Given the description of an element on the screen output the (x, y) to click on. 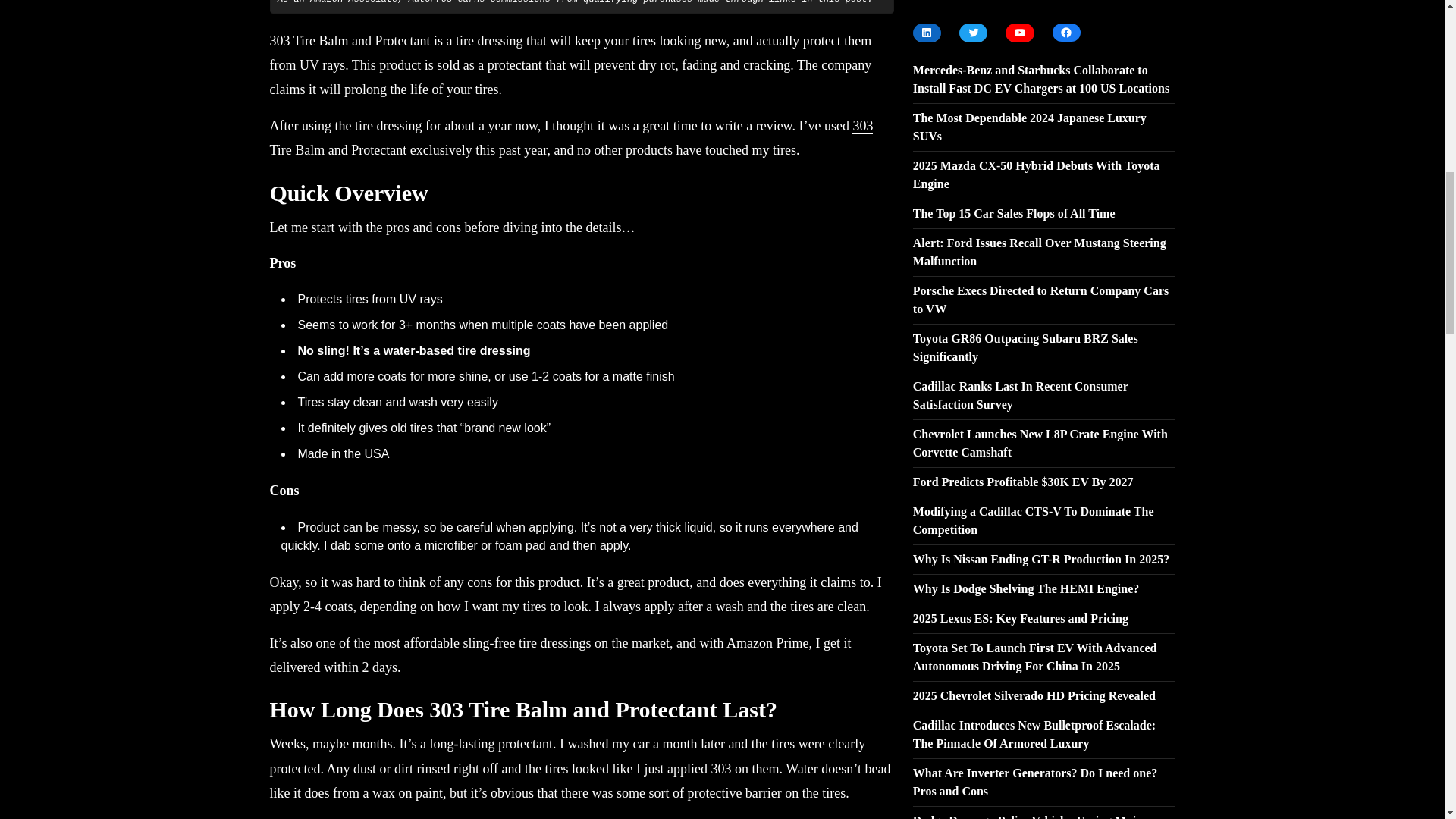
303 Tire Balm and Protectant (571, 137)
